Given the description of an element on the screen output the (x, y) to click on. 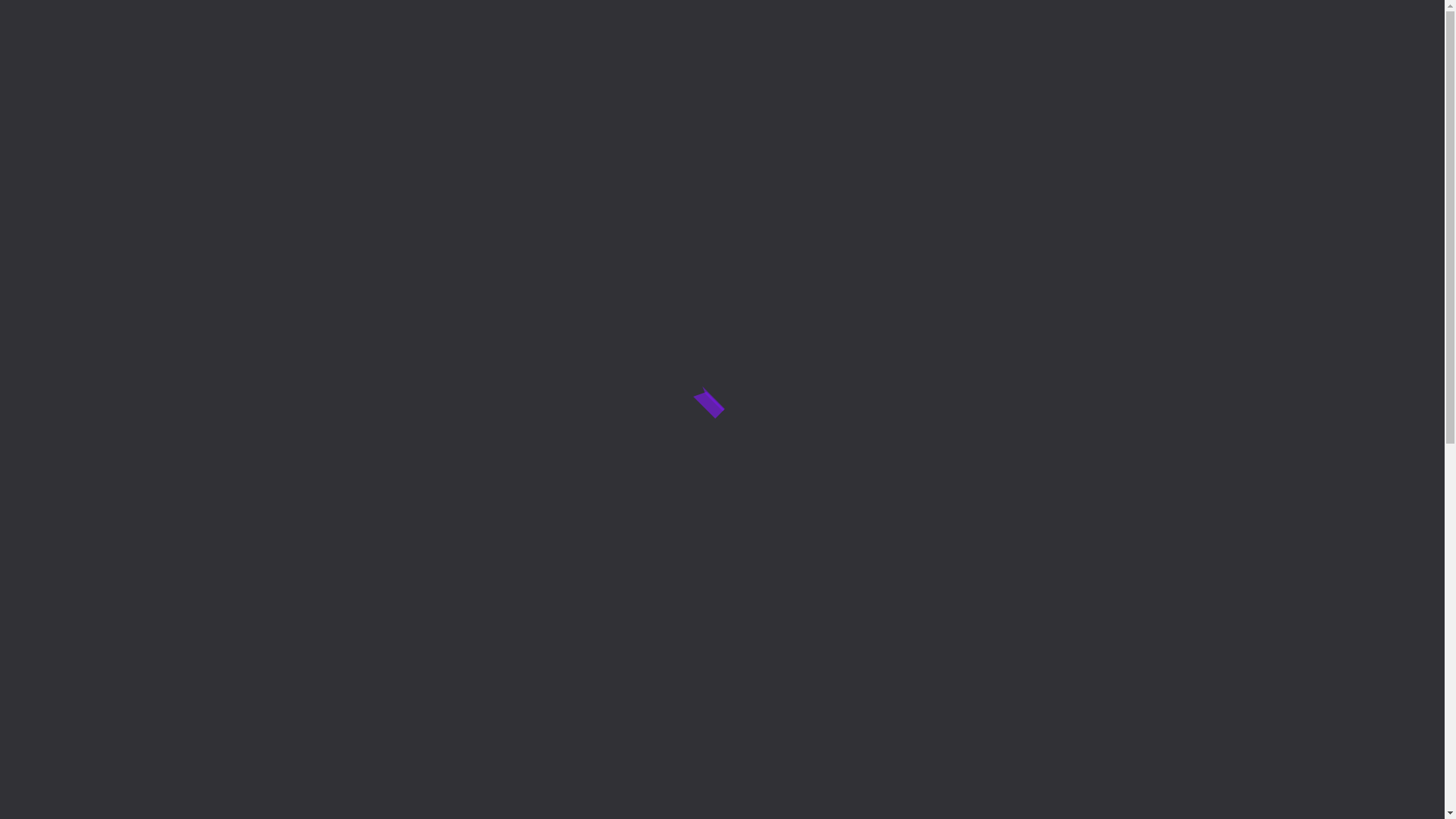
Facebook Element type: text (1368, 53)
products Element type: text (658, 85)
hair Element type: text (624, 225)
Just add Color Element type: text (663, 263)
reviews Element type: text (877, 85)
keyboard_backspace Element type: text (525, 430)
home Element type: text (470, 85)
subscribe Element type: text (955, 490)
contact Element type: text (1072, 85)
promotions Element type: text (770, 85)
Instagram Element type: text (994, 260)
West Hollywood Hair Element type: text (396, 263)
hair Element type: text (328, 225)
Home Element type: text (699, 122)
nov 01, 2017 Element type: text (364, 445)
services Element type: text (559, 85)
Facebook Element type: text (956, 260)
keyboard_backspace Element type: text (821, 430)
Yelp Element type: text (1330, 53)
about us Element type: text (975, 85)
Instagram Element type: text (1406, 53)
Yelp Element type: text (919, 260)
nov 01, 2017 Element type: text (659, 445)
